Given the description of an element on the screen output the (x, y) to click on. 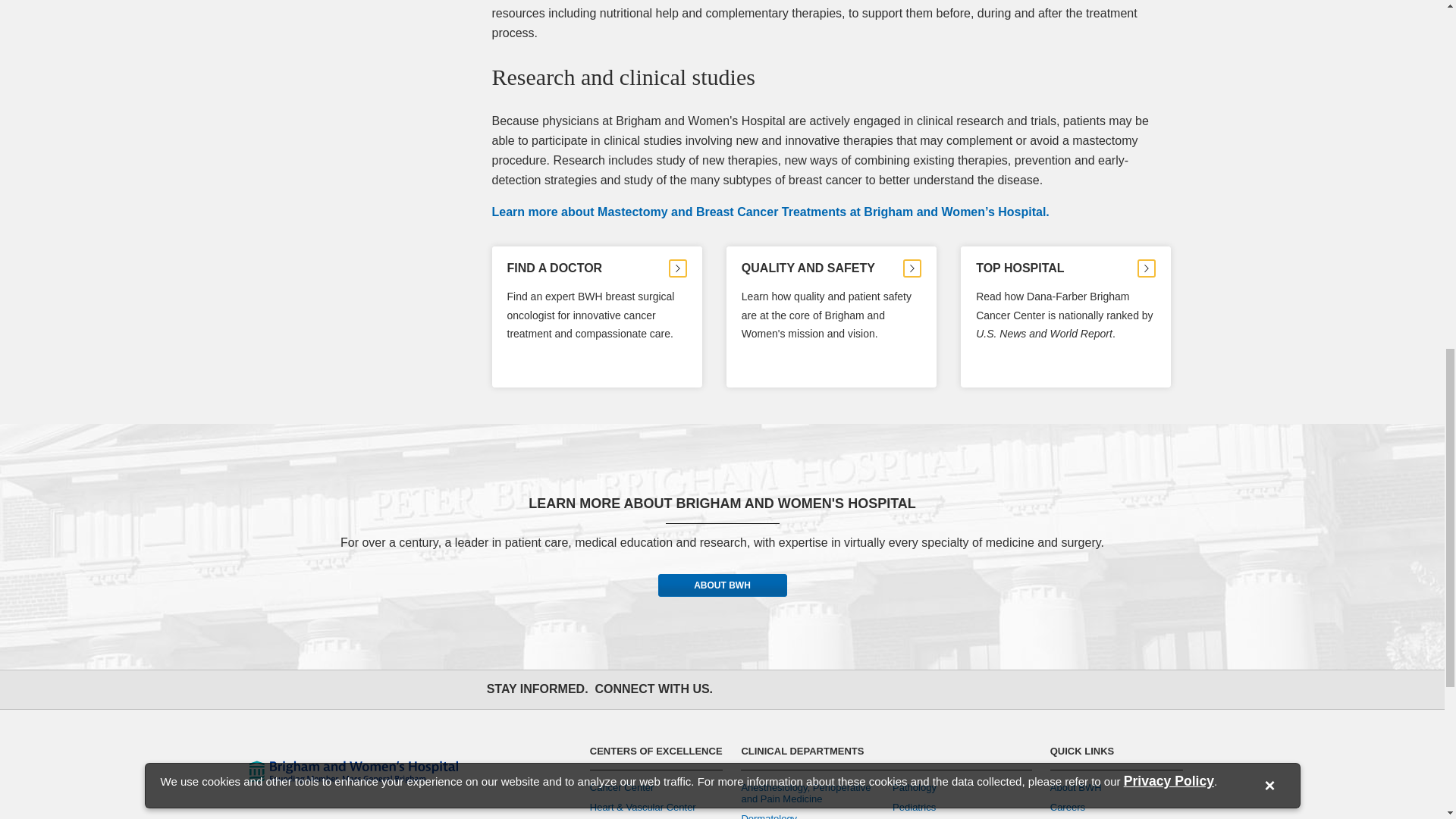
YouTube (838, 689)
LinkedIn (871, 689)
Facebook (738, 689)
Newsroom (905, 689)
Instagram (804, 689)
